Given the description of an element on the screen output the (x, y) to click on. 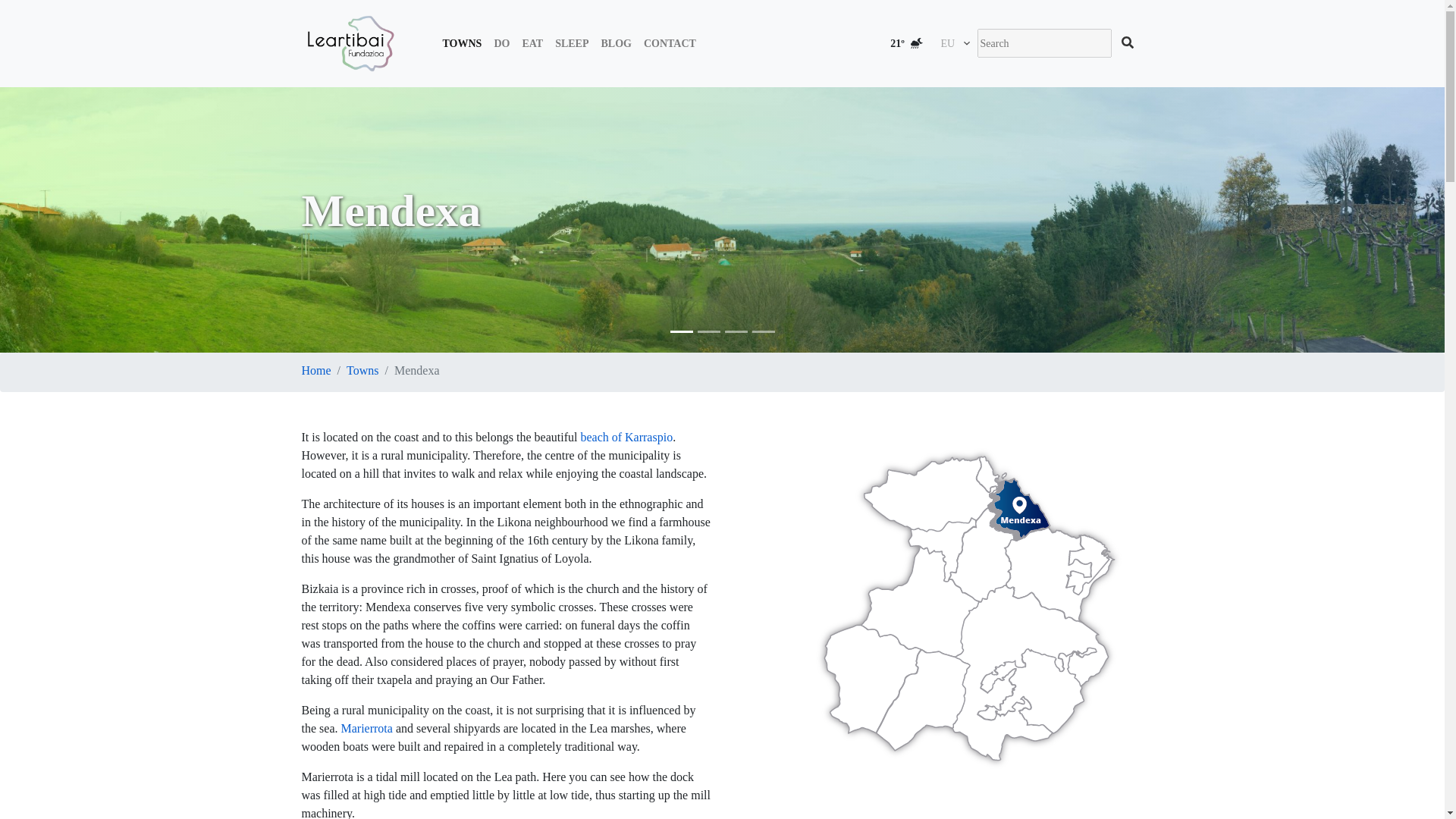
DO (501, 43)
SLEEP (571, 43)
EAT (531, 43)
BLOG (615, 43)
TOWNS (461, 43)
Search (1126, 42)
CONTACT (669, 43)
SEARCH (1126, 42)
